Given the description of an element on the screen output the (x, y) to click on. 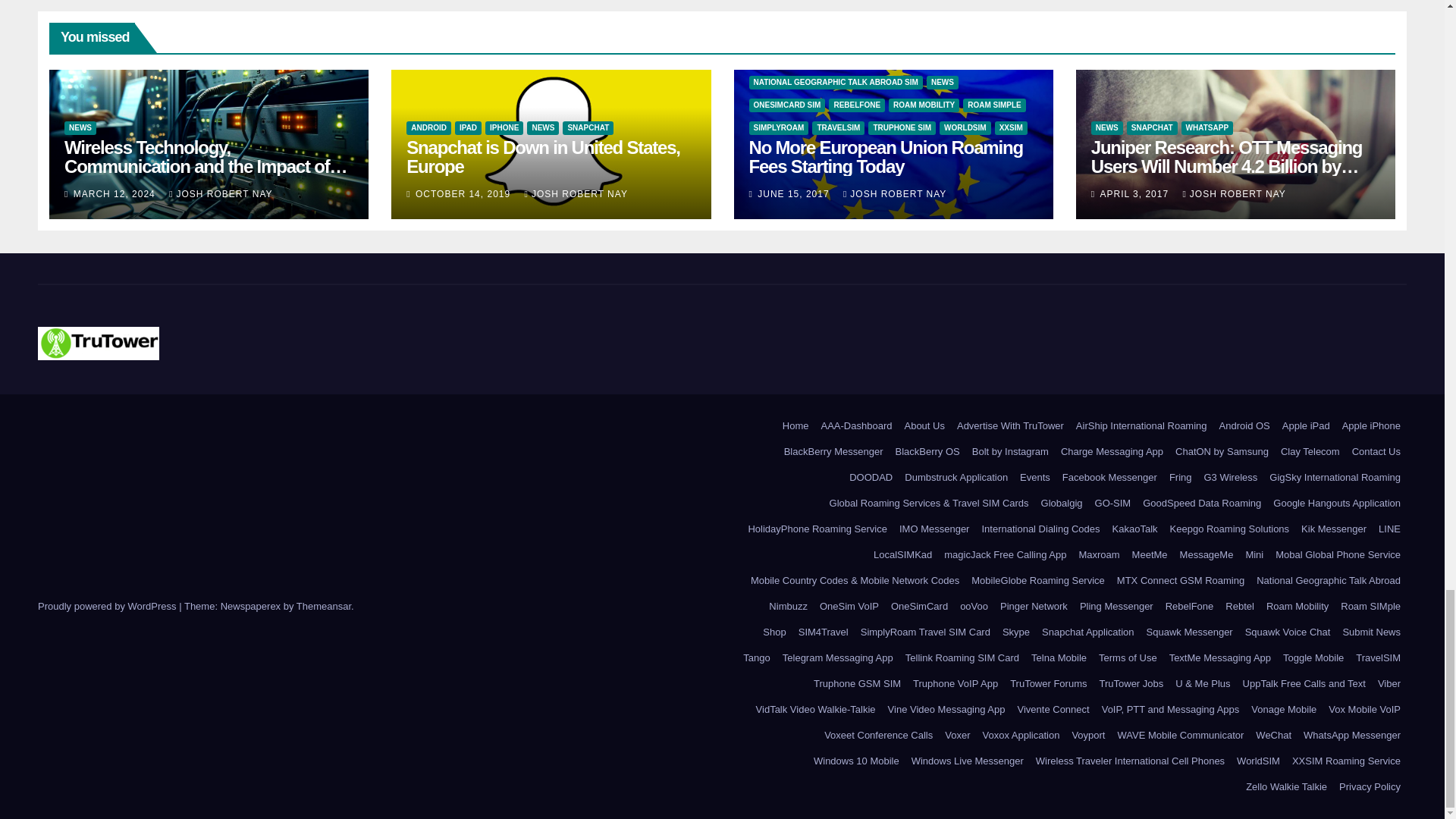
Permalink to: Snapchat is Down in United States, Europe (542, 156)
